Given the description of an element on the screen output the (x, y) to click on. 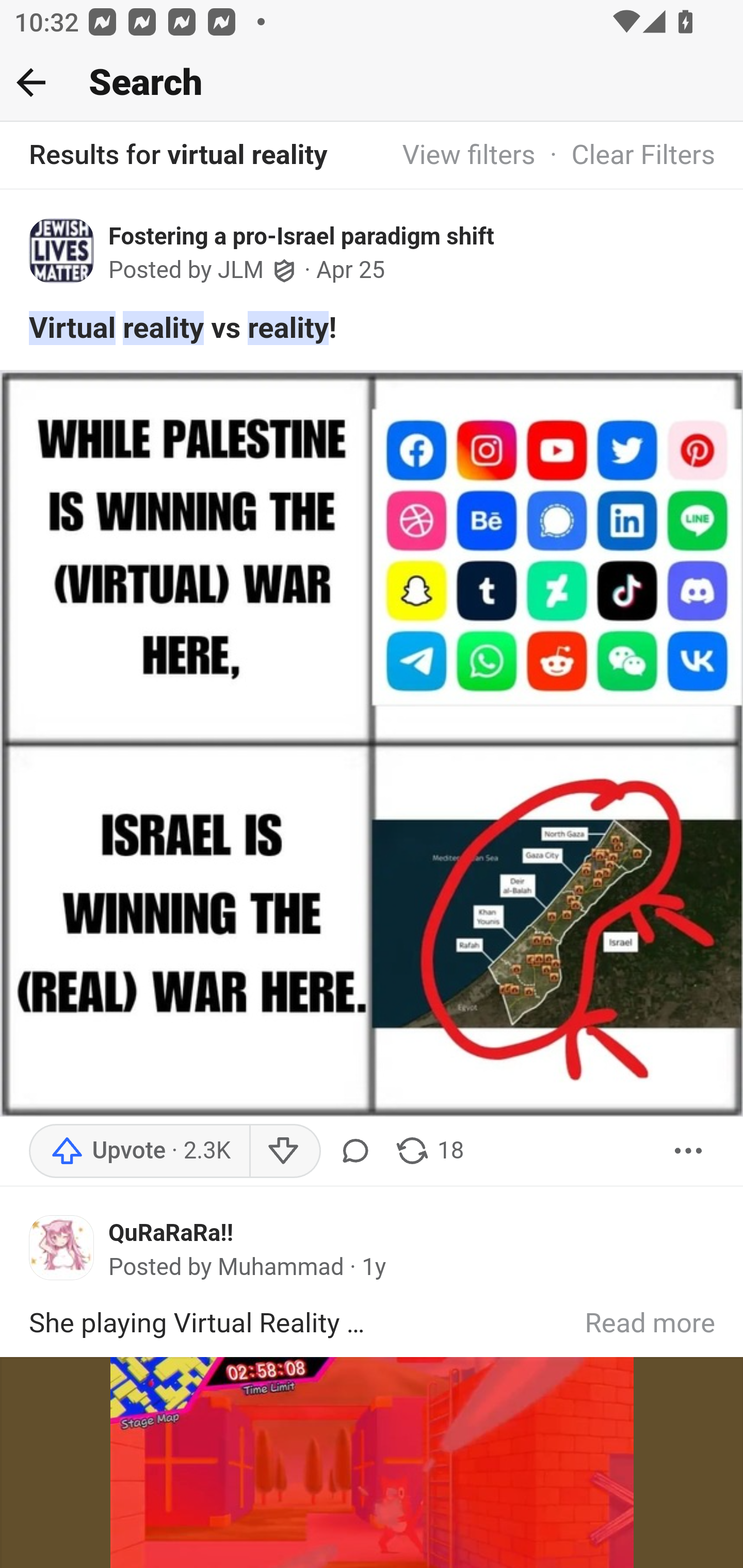
Back Search (371, 82)
Back (30, 82)
View filters (468, 155)
· Clear Filters · Clear Filters (625, 155)
Icon for Fostering a pro-Israel paradigm shift (61, 249)
Fostering a pro-Israel paradigm shift (301, 235)
JLM (240, 271)
Apr 25 (350, 270)
Upvote (138, 1150)
Downvote (283, 1150)
Comment (355, 1150)
18 shares (428, 1150)
More (688, 1150)
Icon for QuRaRaRa!! (61, 1247)
QuRaRaRa!! (171, 1233)
Muhammad (280, 1266)
1y 1 y (374, 1266)
